Given the description of an element on the screen output the (x, y) to click on. 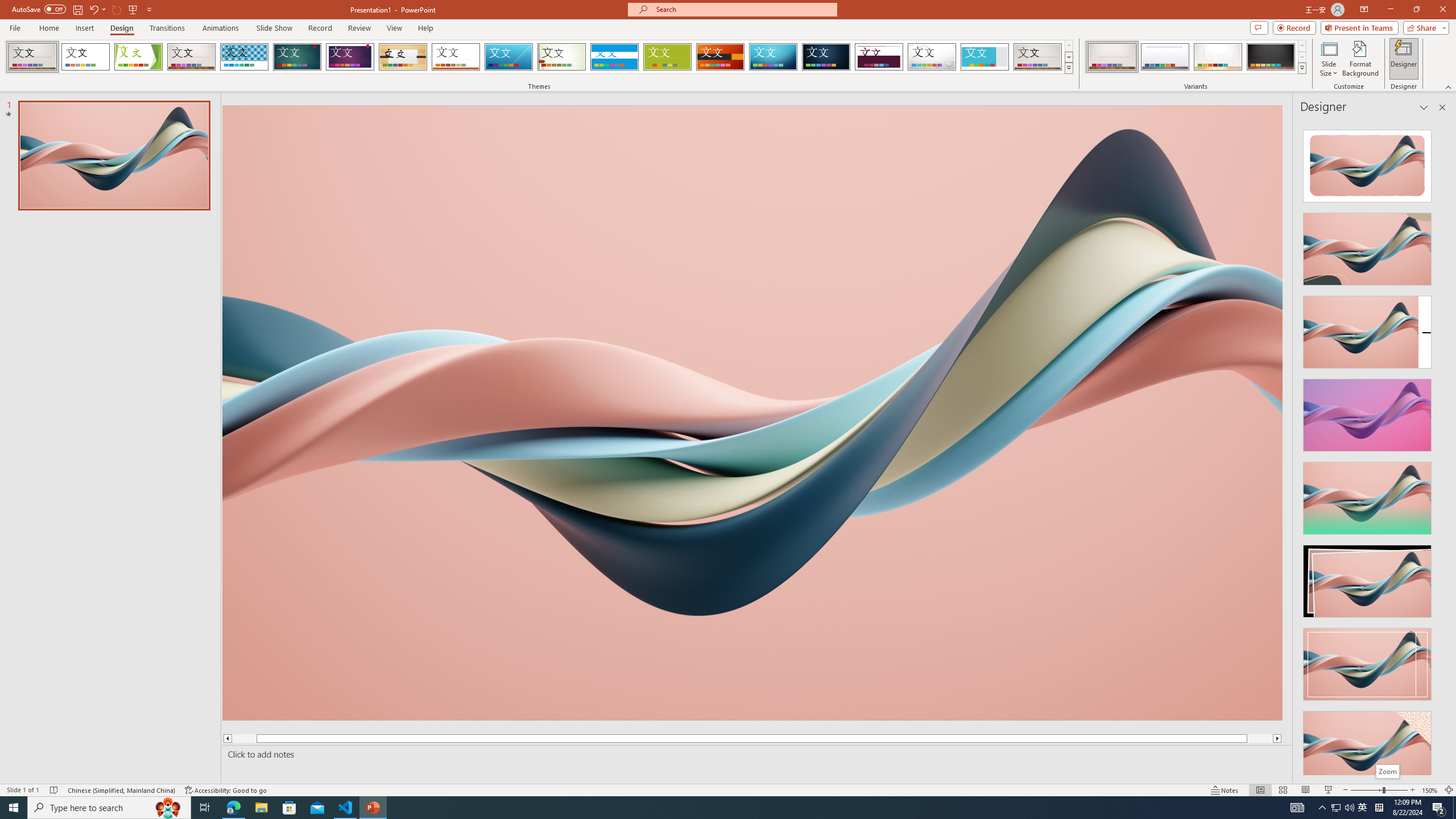
Retrospect (455, 56)
Frame (984, 56)
Gallery Variant 1 (1112, 56)
